Given the description of an element on the screen output the (x, y) to click on. 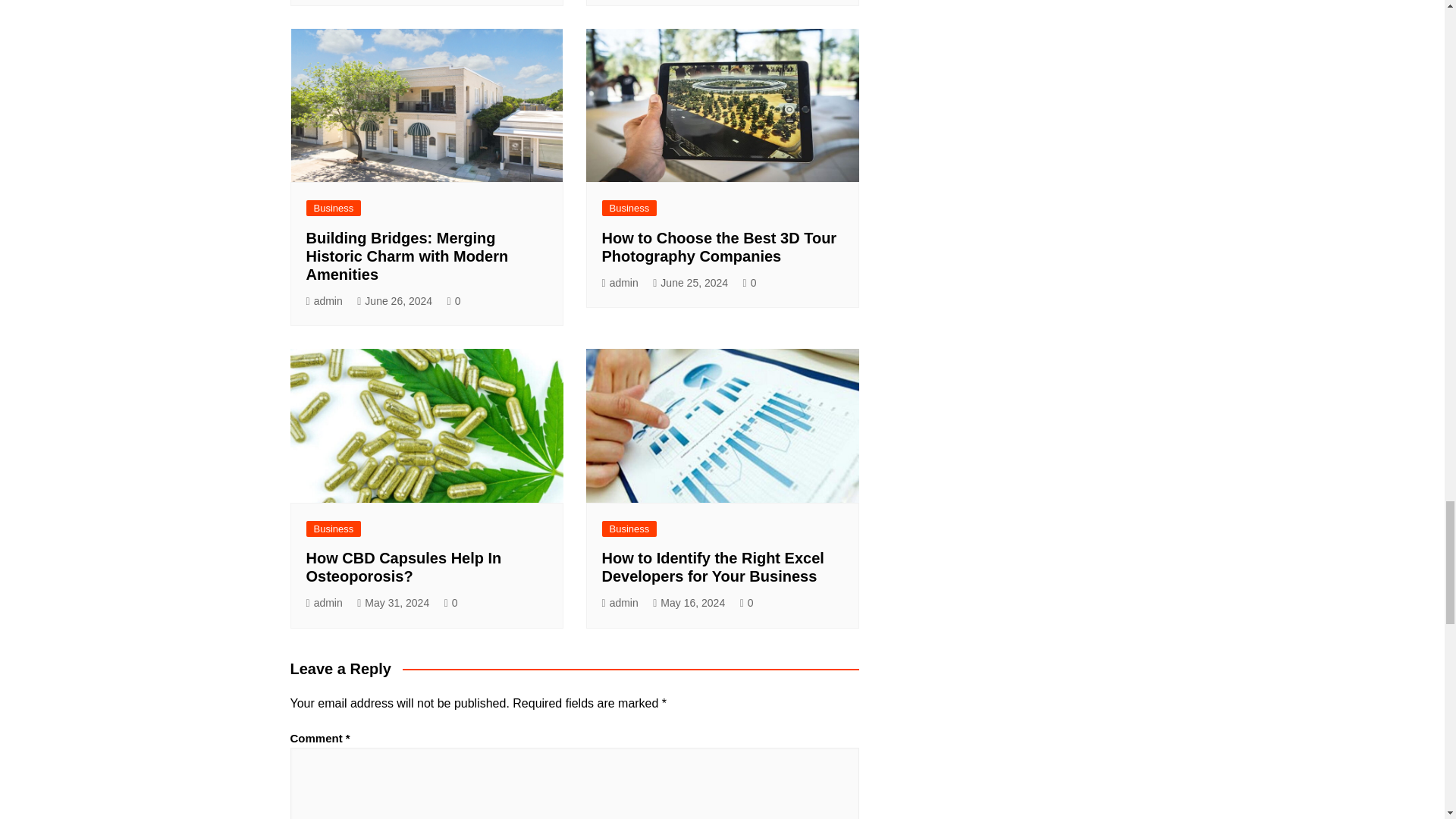
Business (333, 207)
